Given the description of an element on the screen output the (x, y) to click on. 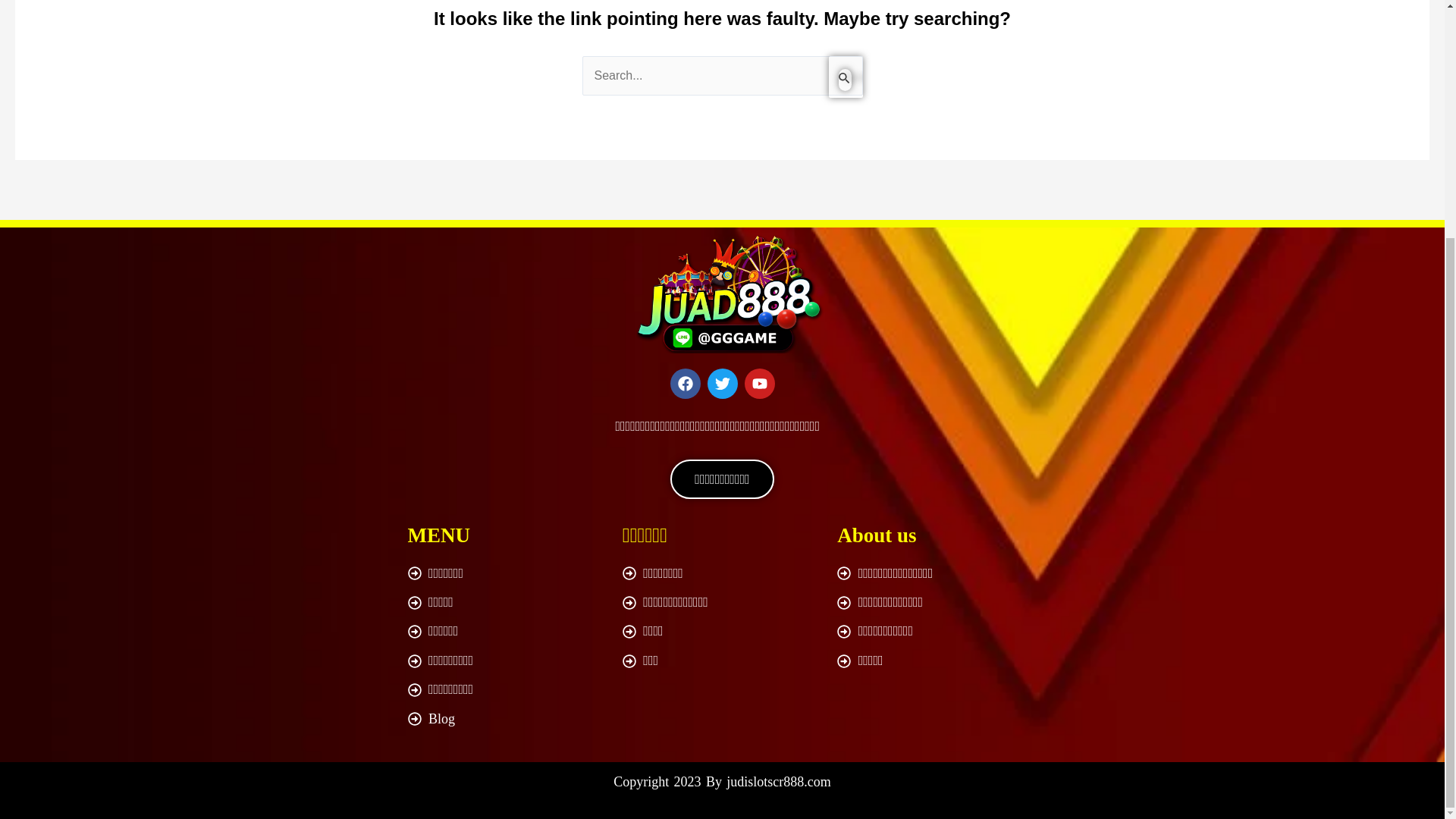
Blog (507, 719)
Facebook (684, 383)
Twitter (721, 383)
Youtube (759, 383)
